Given the description of an element on the screen output the (x, y) to click on. 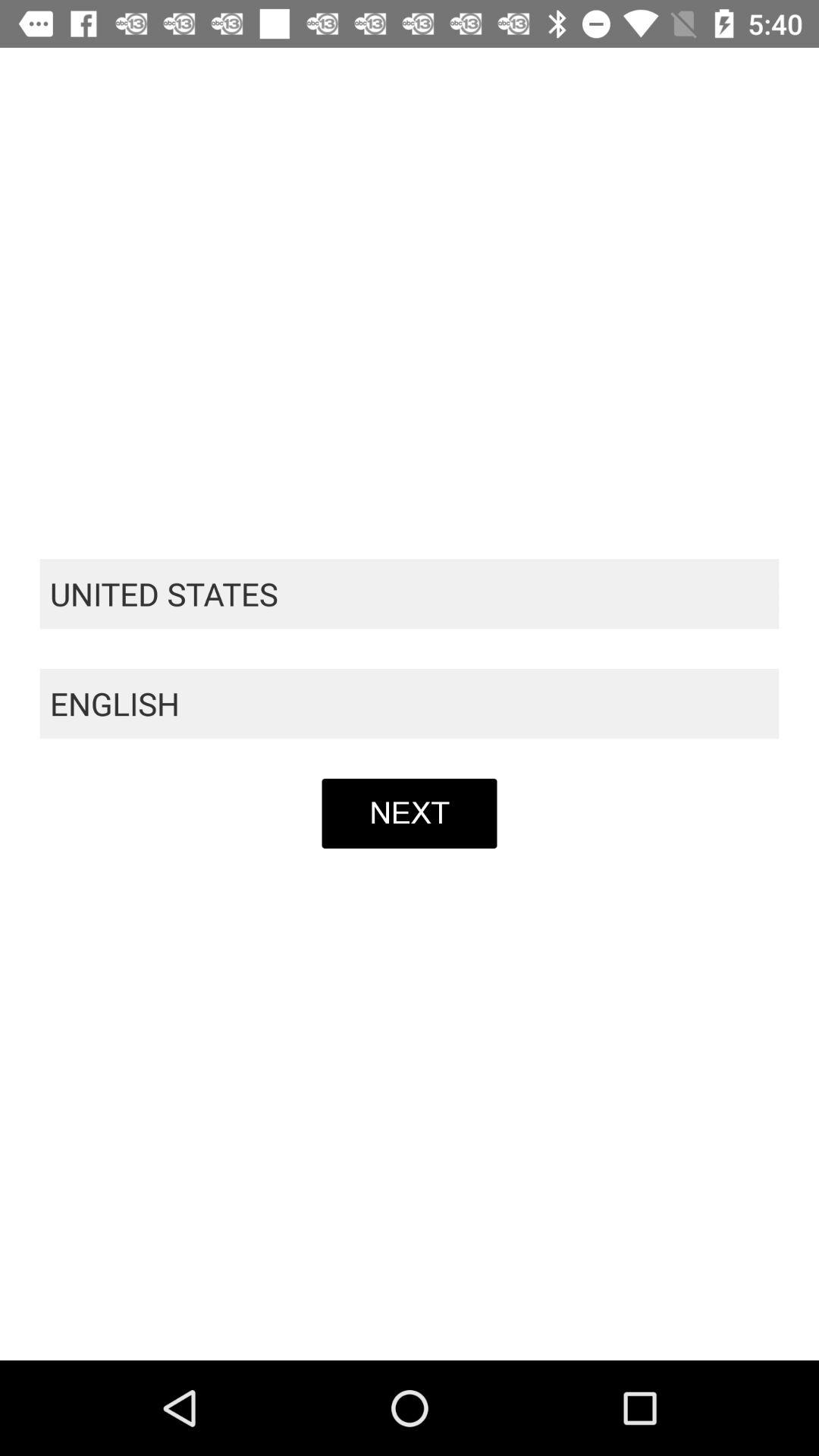
press united states item (409, 594)
